Given the description of an element on the screen output the (x, y) to click on. 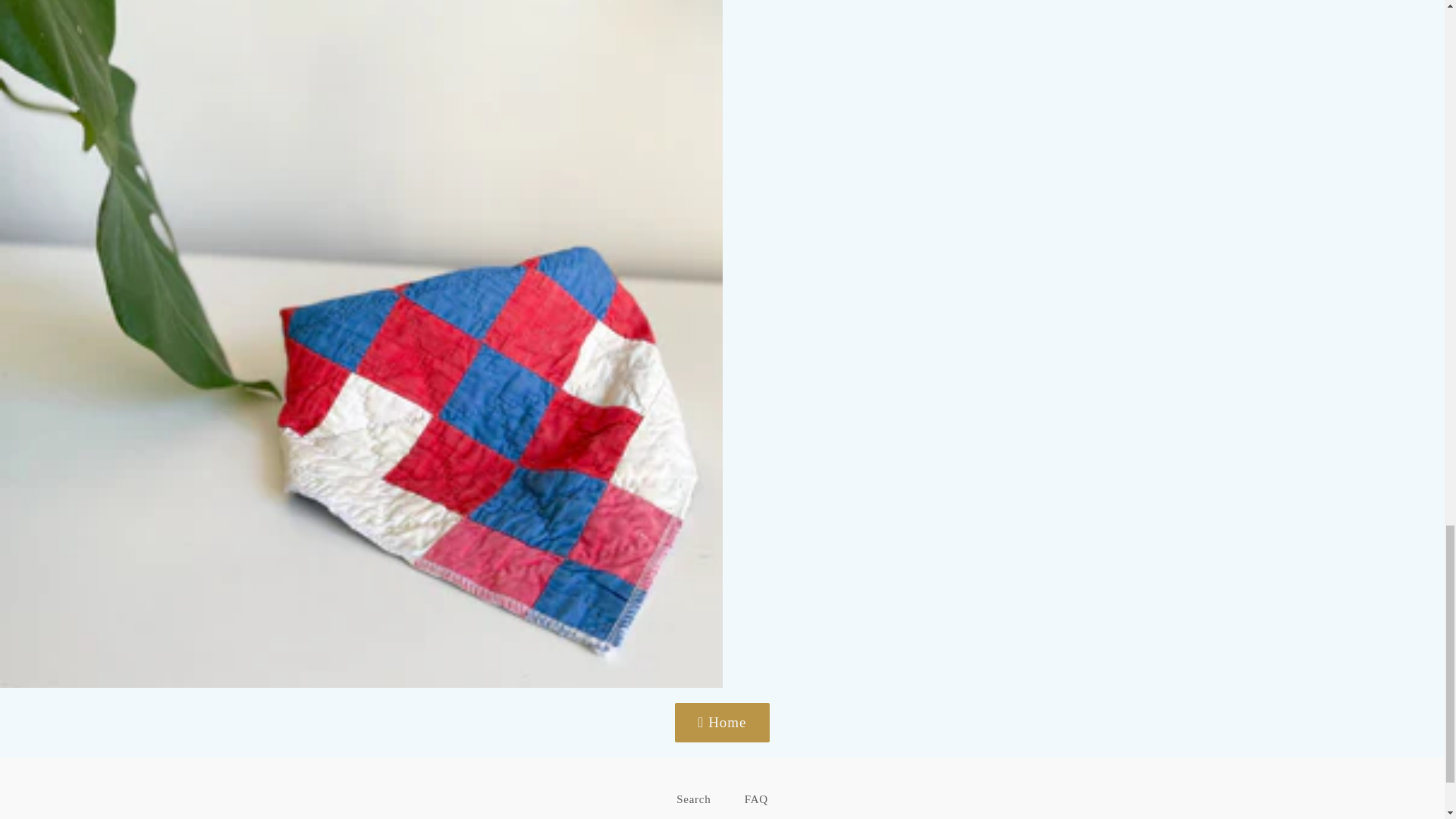
FAQ (756, 799)
Search (693, 799)
Home (722, 722)
